Given the description of an element on the screen output the (x, y) to click on. 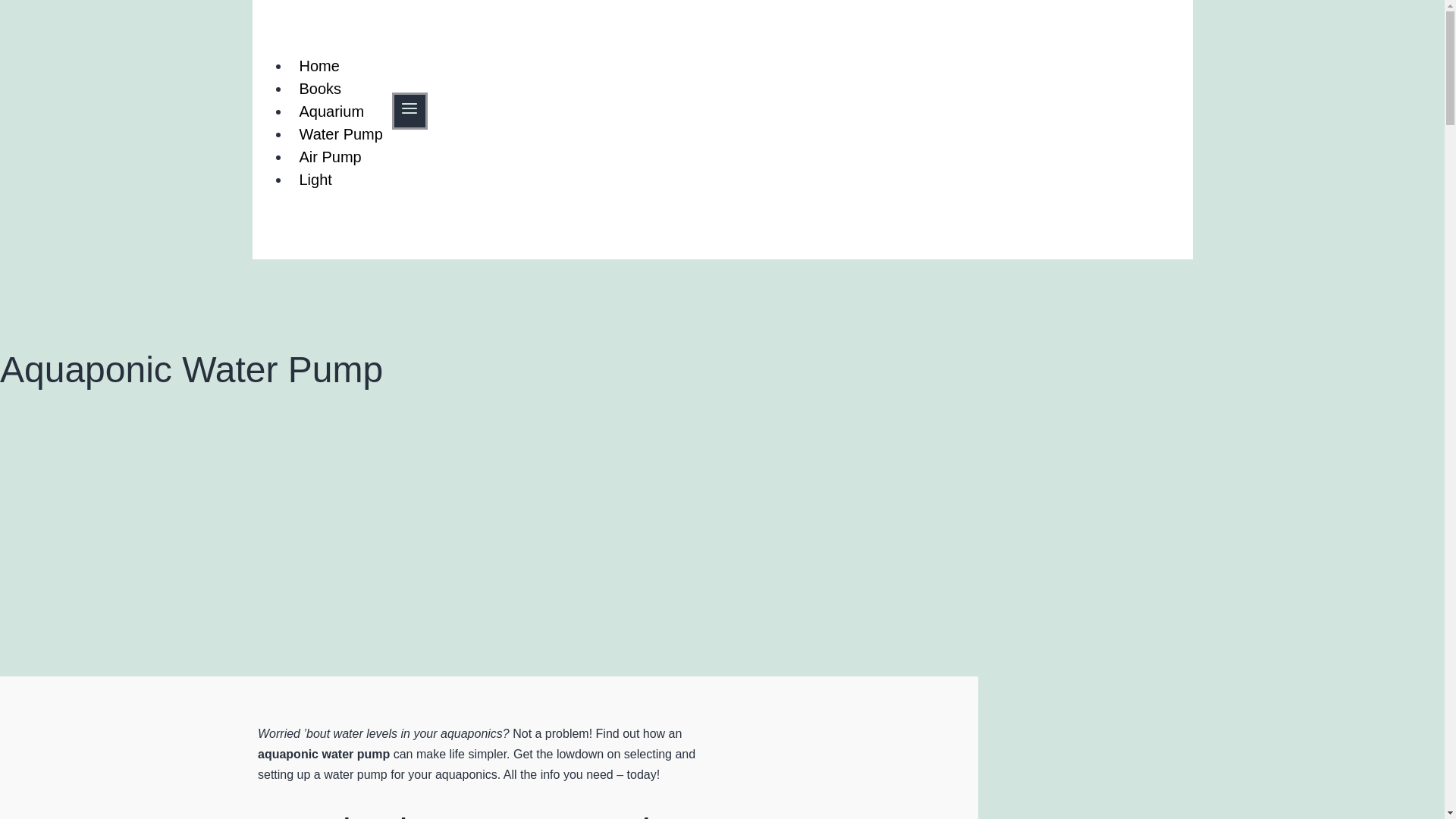
Toggle Menu (409, 108)
Light (314, 179)
Air Pump (329, 156)
Water Pump (340, 134)
Home (318, 65)
Books (319, 88)
Toggle Menu (409, 110)
Aquarium (330, 111)
